Given the description of an element on the screen output the (x, y) to click on. 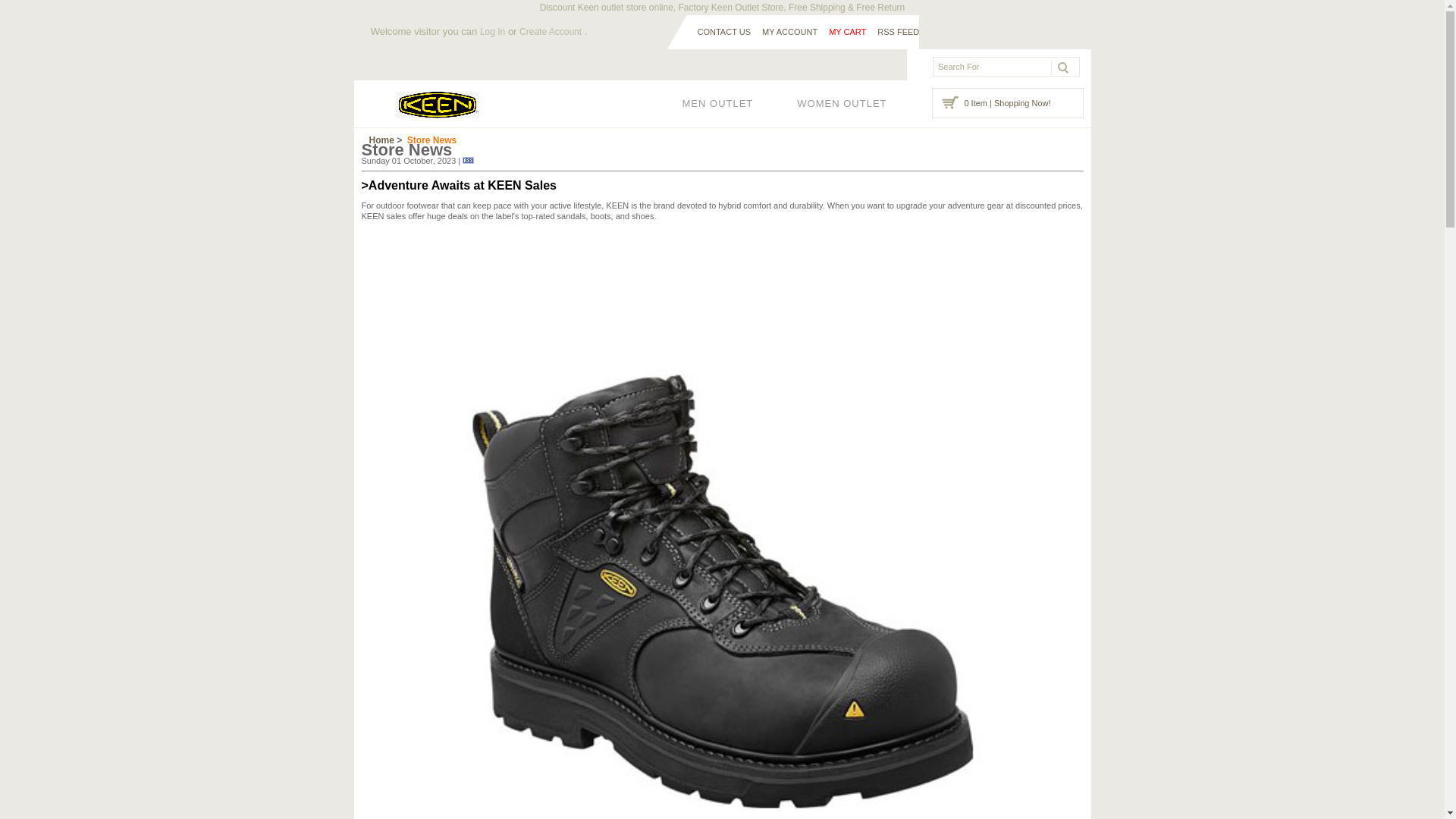
0 Item | Shopping Now! Element type: text (1006, 102)
CONTACT US Element type: text (724, 31)
MEN OUTLET Element type: text (717, 103)
GO Element type: text (1058, 67)
MY ACCOUNT Element type: text (789, 31)
 Keen boots outlet  Element type: hover (436, 104)
Log In Element type: text (492, 31)
Create Account Element type: text (550, 31)
 RSS Feed  Element type: hover (467, 159)
Home Element type: text (380, 139)
MY CART Element type: text (847, 31)
RSS FEED Element type: text (898, 31)
WOMEN OUTLET Element type: text (841, 103)
Store News Element type: text (431, 139)
